Given the description of an element on the screen output the (x, y) to click on. 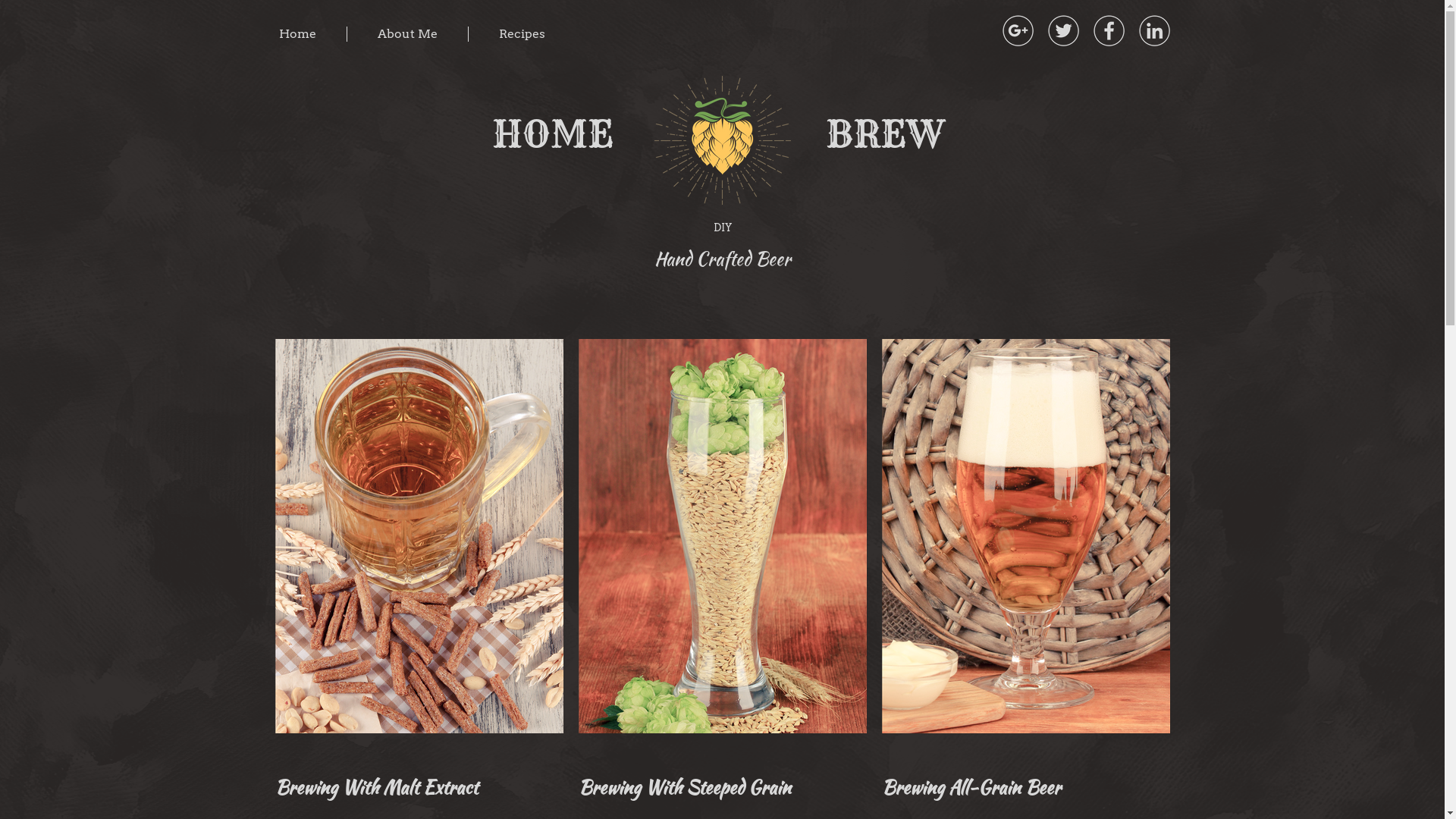
Home Element type: text (312, 33)
Recipes Element type: text (532, 33)
Brewing With Steeped Grain Element type: text (683, 787)
Brewing All-Grain Beer Element type: text (970, 787)
About Me Element type: text (422, 33)
Brewing With Malt Extract Element type: text (375, 787)
